Given the description of an element on the screen output the (x, y) to click on. 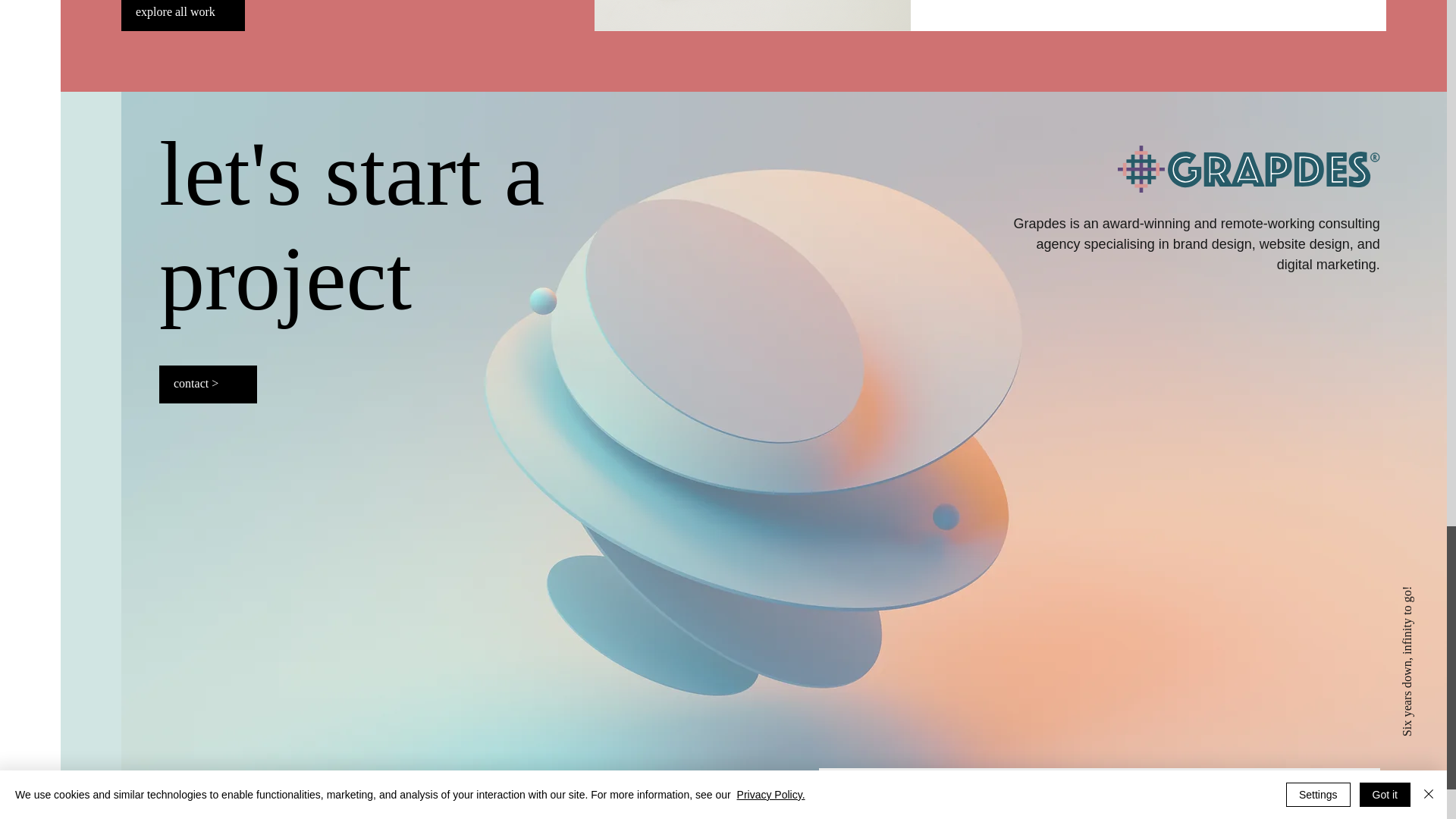
insights (1212, 786)
about (874, 786)
work (1099, 786)
careers (1324, 786)
services (987, 786)
